Given the description of an element on the screen output the (x, y) to click on. 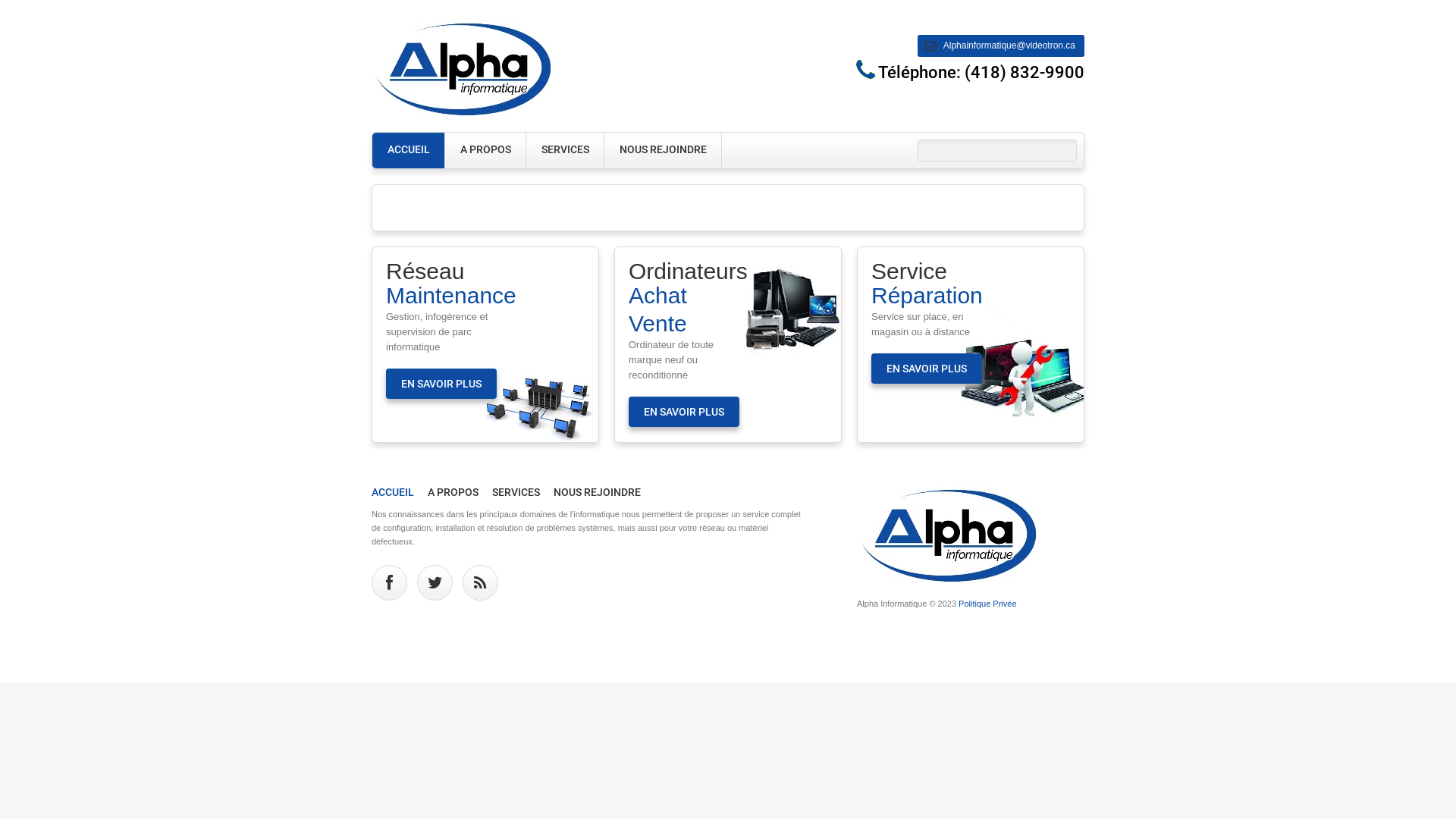
EN SAVOIR PLUS Element type: text (683, 411)
EN SAVOIR PLUS Element type: text (440, 383)
EN SAVOIR PLUS Element type: text (926, 368)
ACCUEIL Element type: text (392, 492)
A PROPOS Element type: text (452, 492)
SERVICES Element type: text (515, 492)
NOUS REJOINDRE Element type: text (662, 150)
NOUS REJOINDRE Element type: text (596, 492)
SERVICES Element type: text (565, 150)
Alphainformatique@videotron.ca Element type: text (1000, 45)
A PROPOS Element type: text (485, 150)
ACCUEIL Element type: text (408, 150)
